Given the description of an element on the screen output the (x, y) to click on. 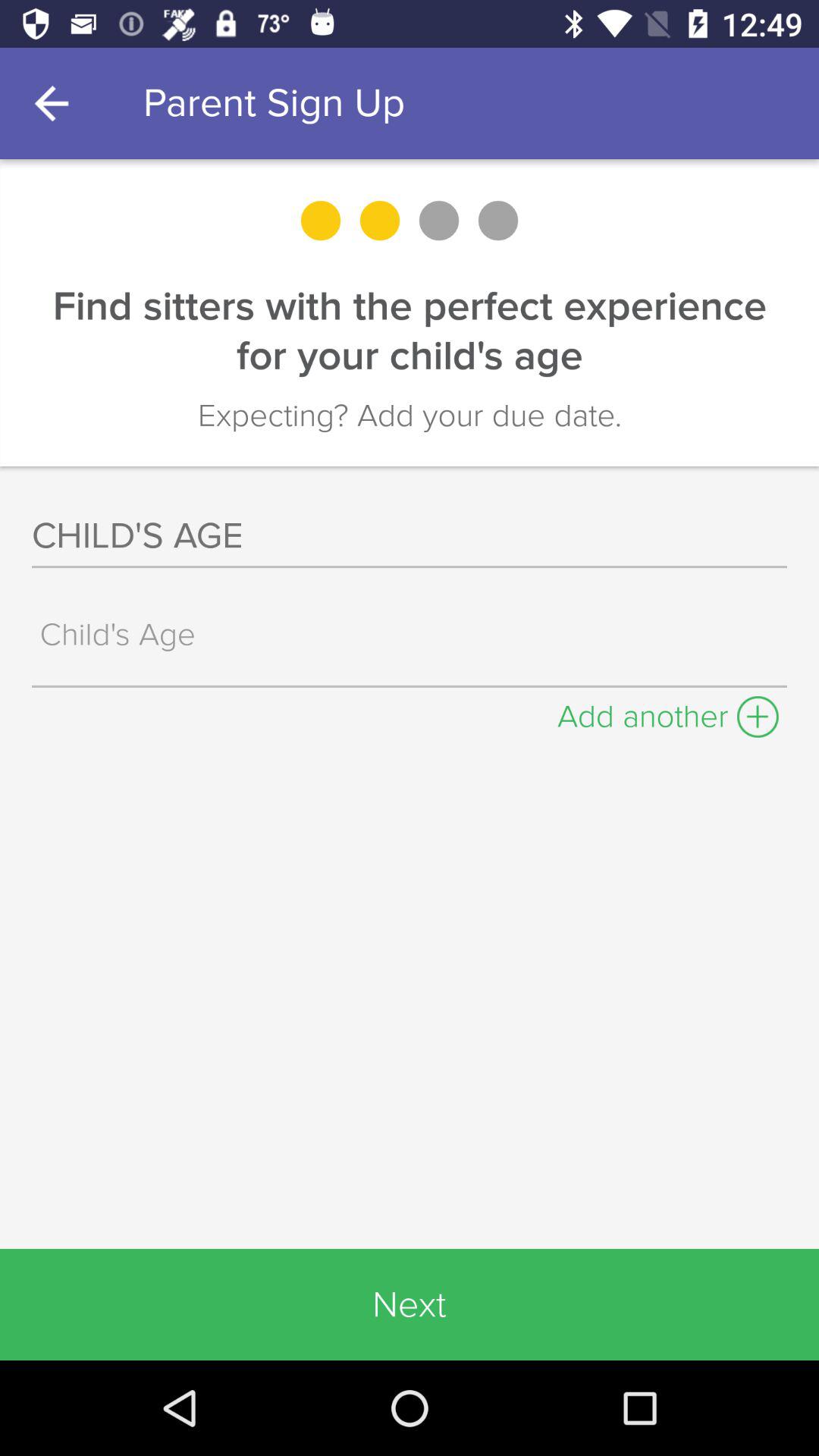
enter child 's age (413, 634)
